Given the description of an element on the screen output the (x, y) to click on. 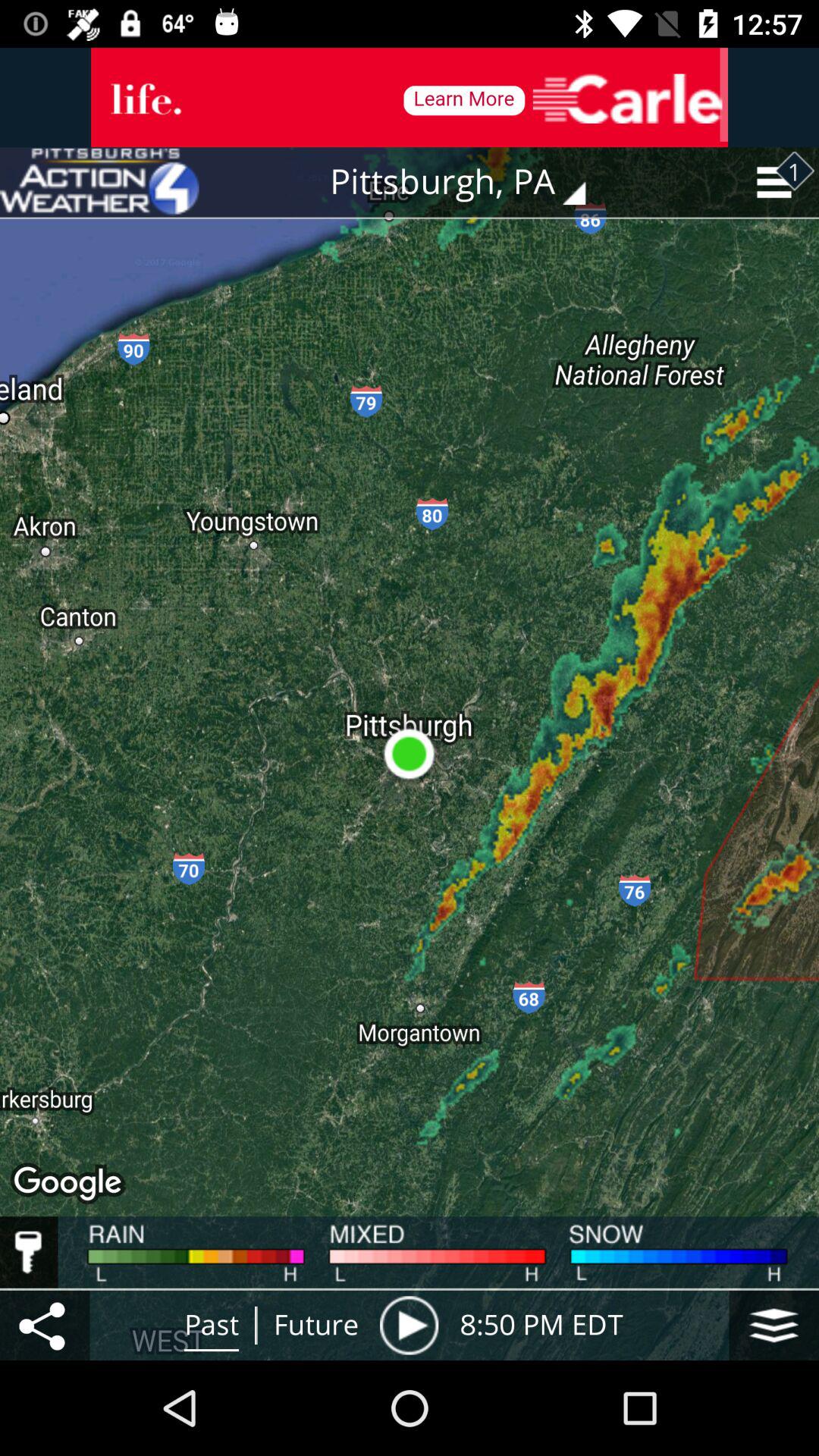
turn on the icon next to the 8 50 pm item (774, 1325)
